Given the description of an element on the screen output the (x, y) to click on. 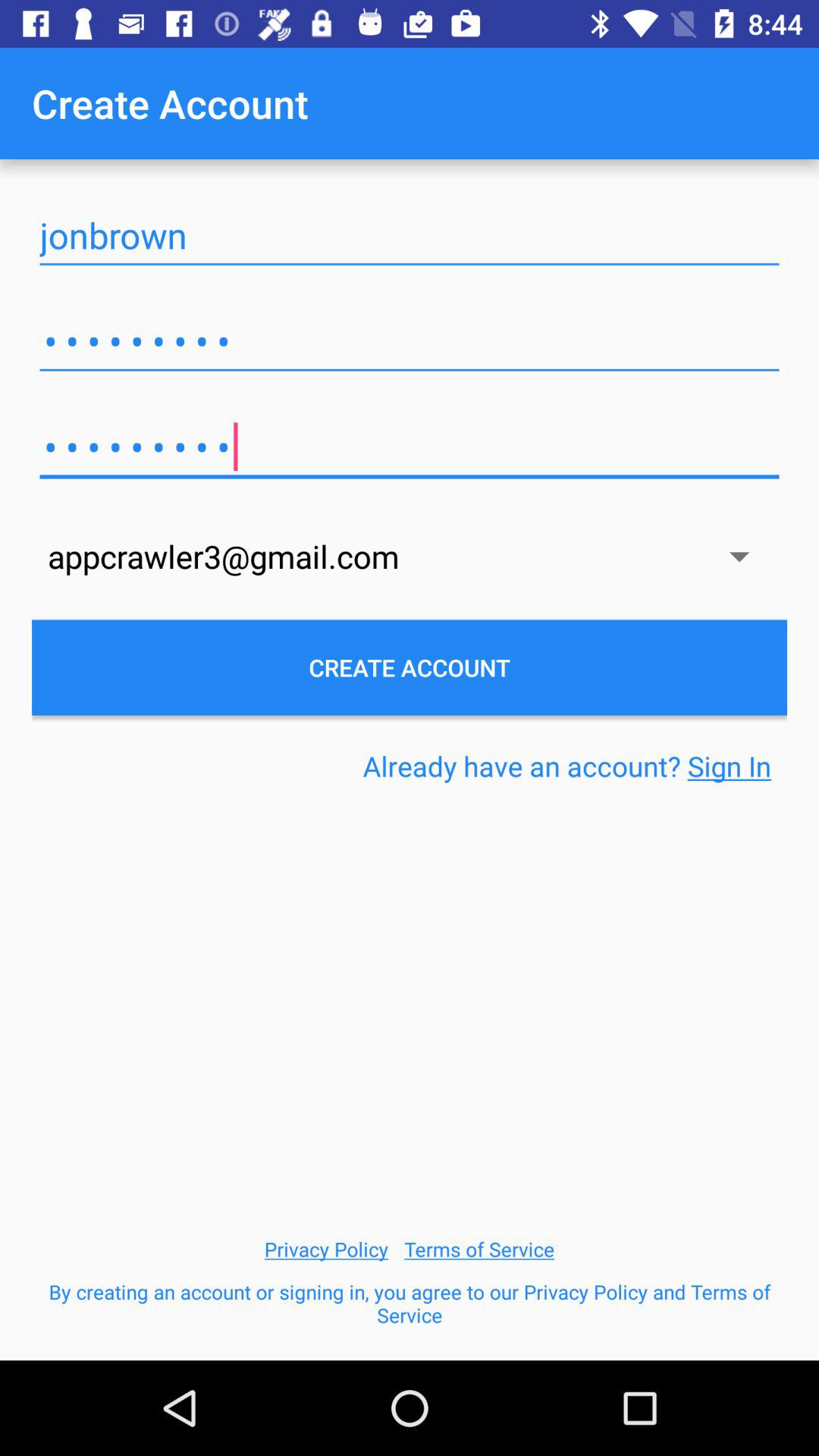
select icon above privacy policy (566, 765)
